Given the description of an element on the screen output the (x, y) to click on. 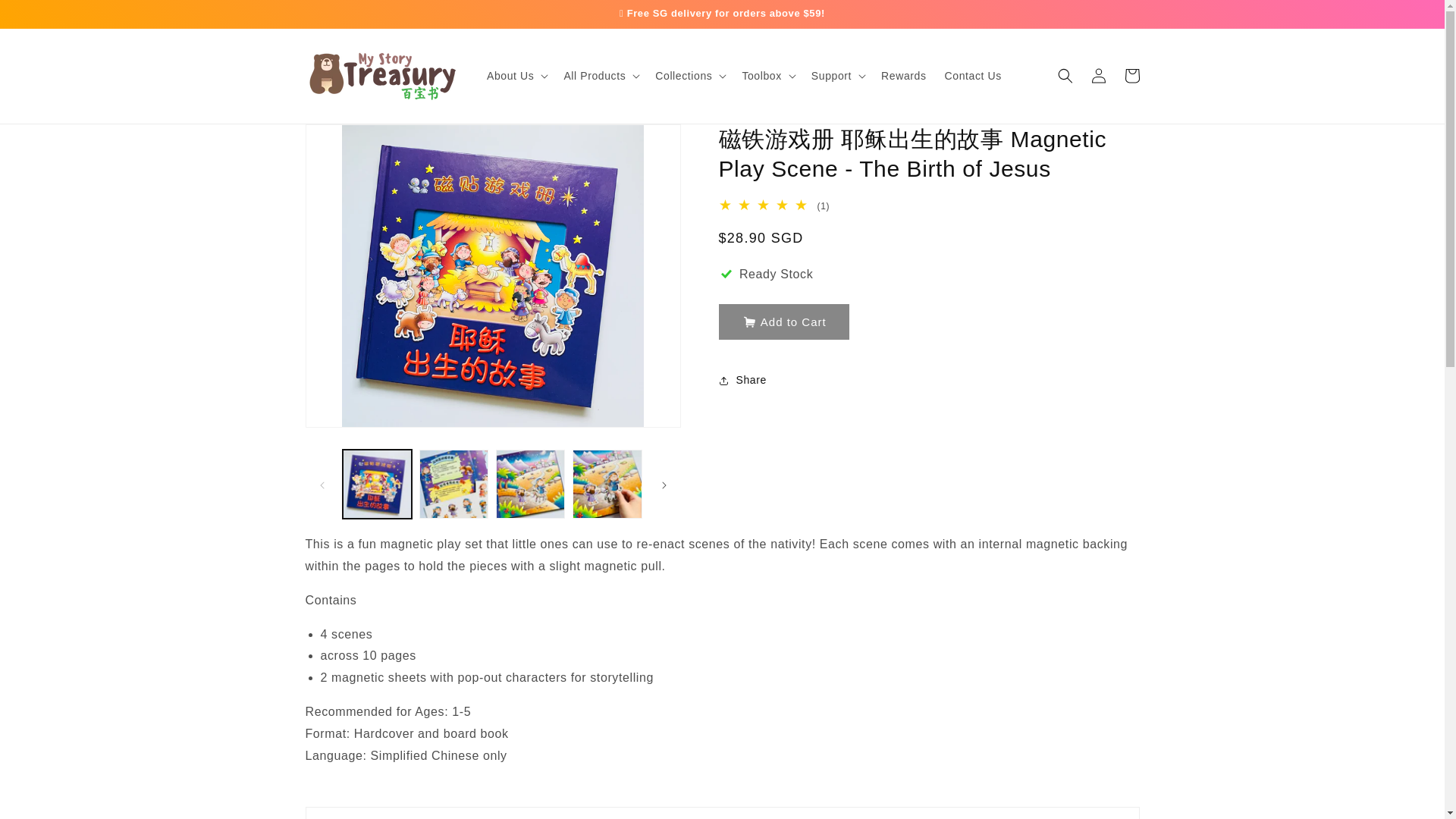
Skip to content (45, 17)
Smile.io Rewards Program Launcher (1406, 780)
